Given the description of an element on the screen output the (x, y) to click on. 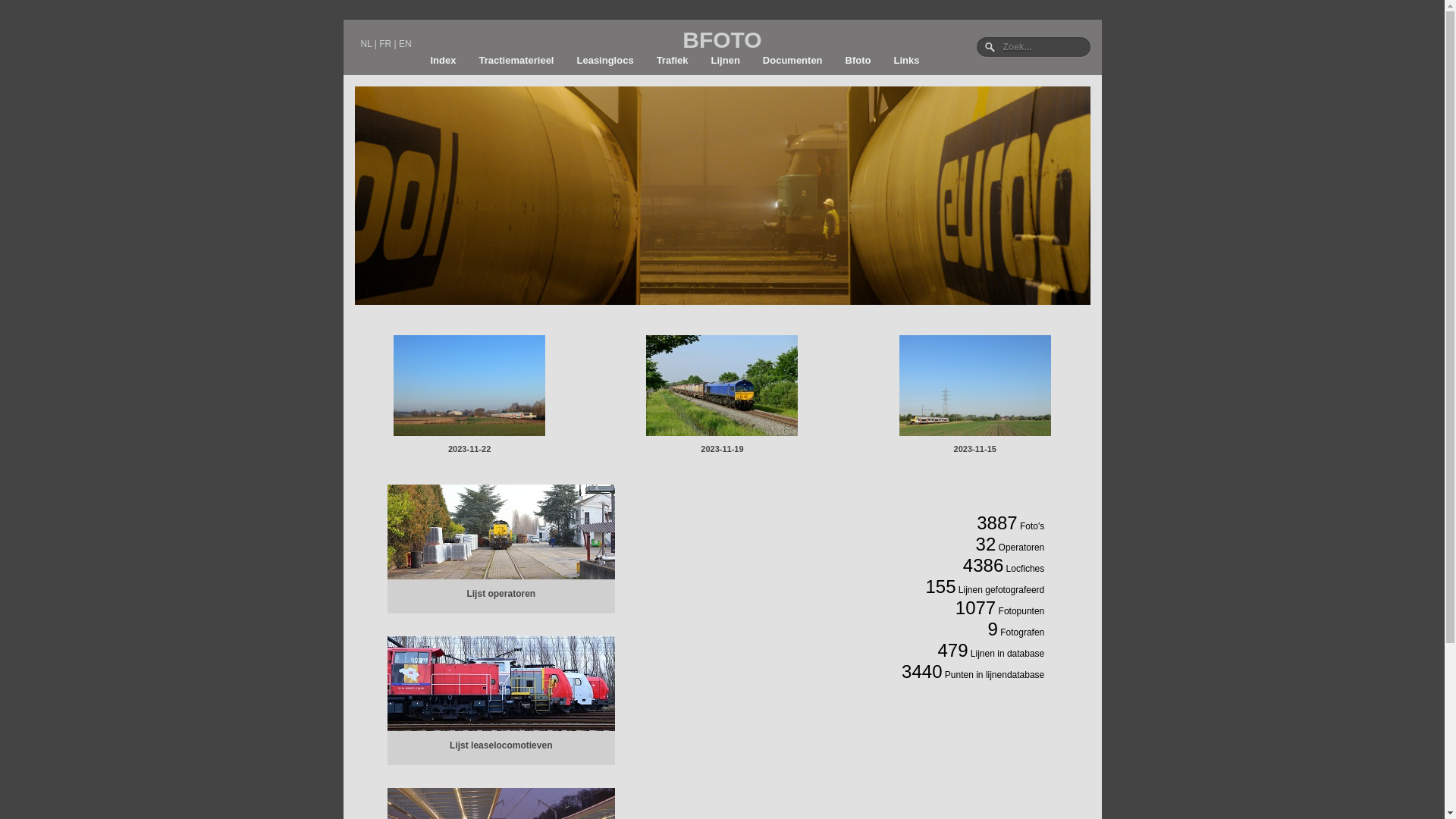
Leasinglocs Element type: text (604, 60)
Documenten Element type: text (792, 60)
2023-11-22 Element type: text (469, 448)
2023-11-15 Element type: text (974, 448)
NL Element type: text (366, 43)
2023-11-19 Element type: text (721, 448)
Links Element type: text (906, 60)
Trafiek Element type: text (672, 60)
EN Element type: text (404, 43)
Lijst operatoren Element type: text (500, 593)
Bfoto Element type: text (858, 60)
Index Element type: text (442, 60)
Lijnen Element type: text (725, 60)
Lijst leaselocomotieven Element type: text (500, 745)
Tractiematerieel Element type: text (515, 60)
FR Element type: text (385, 43)
